Given the description of an element on the screen output the (x, y) to click on. 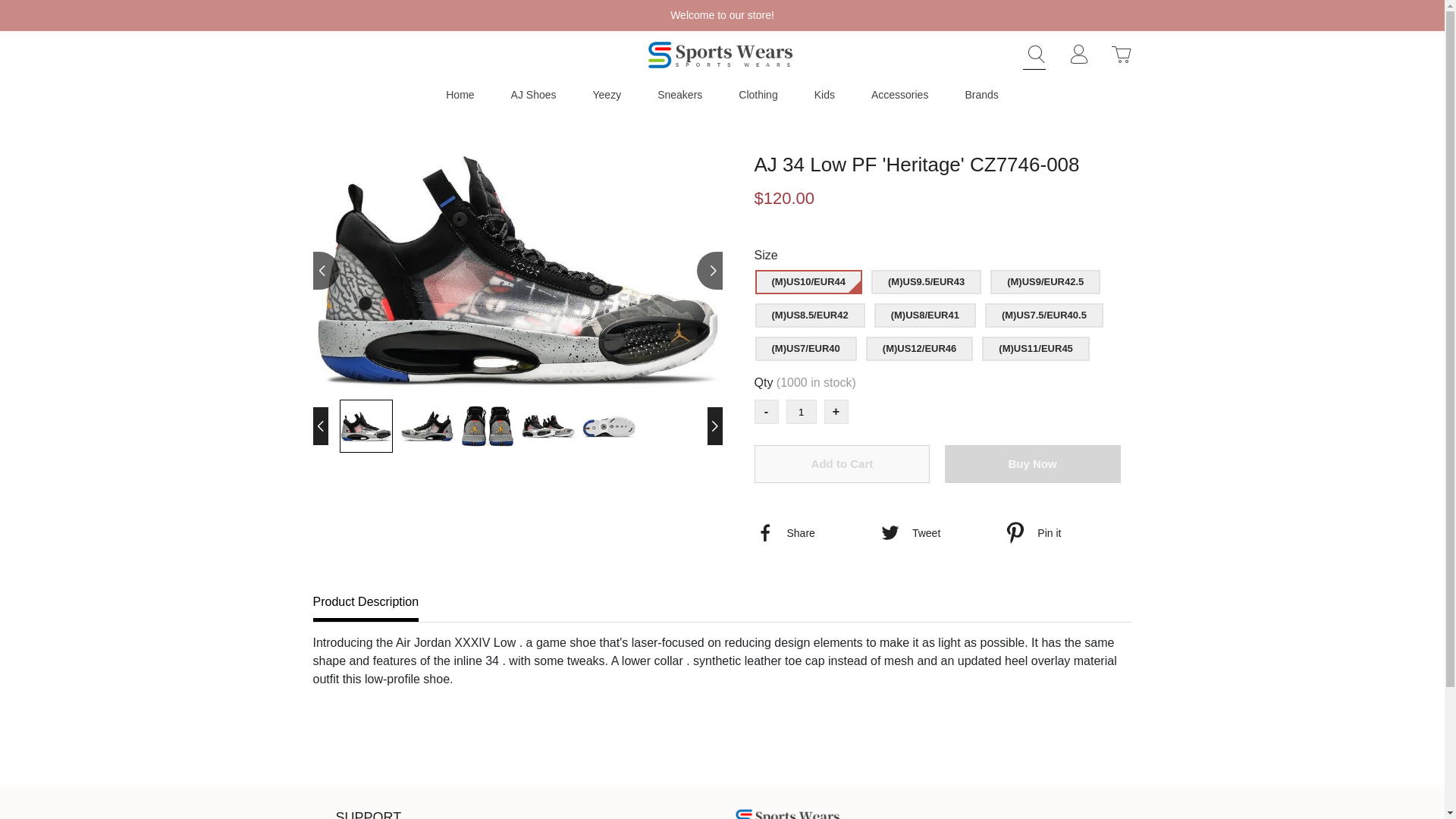
Pin it (1065, 532)
Share (815, 532)
Accessories (899, 94)
Buy Now (1032, 464)
Clothing (757, 94)
Home (459, 94)
Kids (823, 94)
Brands (980, 94)
AJ Shoes (533, 94)
- (765, 411)
